Given the description of an element on the screen output the (x, y) to click on. 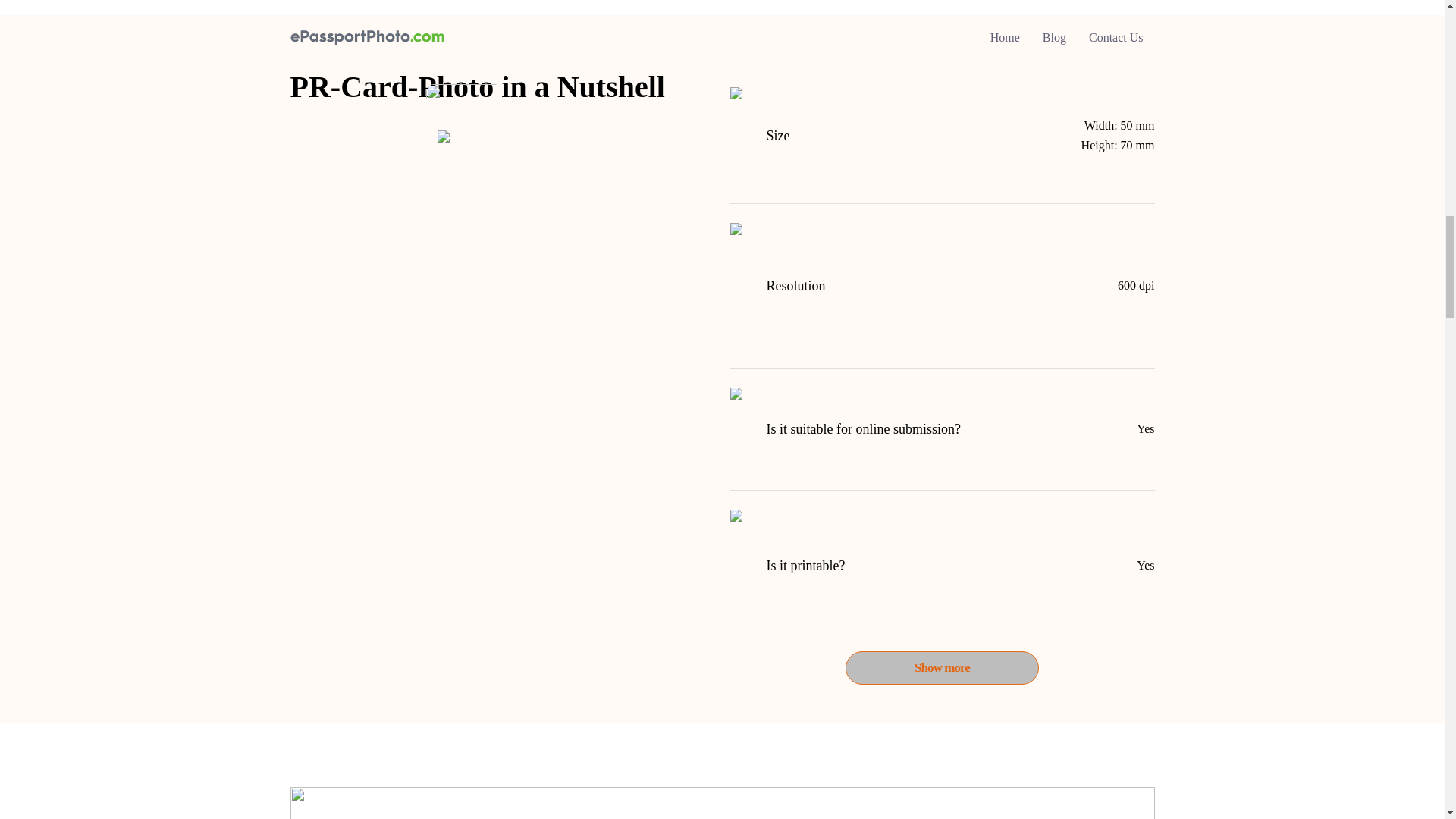
Show more (942, 667)
